Given the description of an element on the screen output the (x, y) to click on. 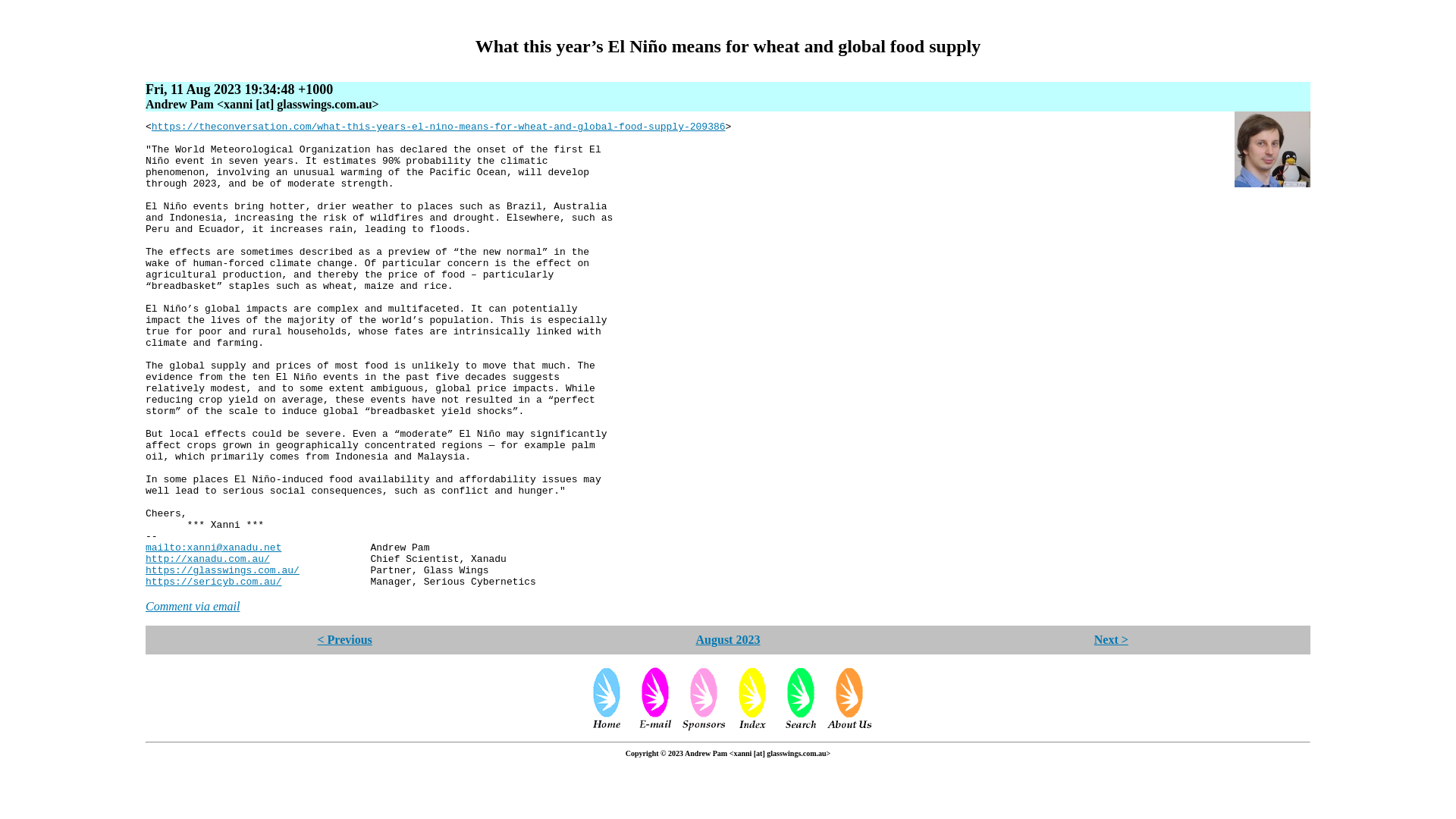
August 2023 (727, 639)
Comment via email (192, 605)
